Given the description of an element on the screen output the (x, y) to click on. 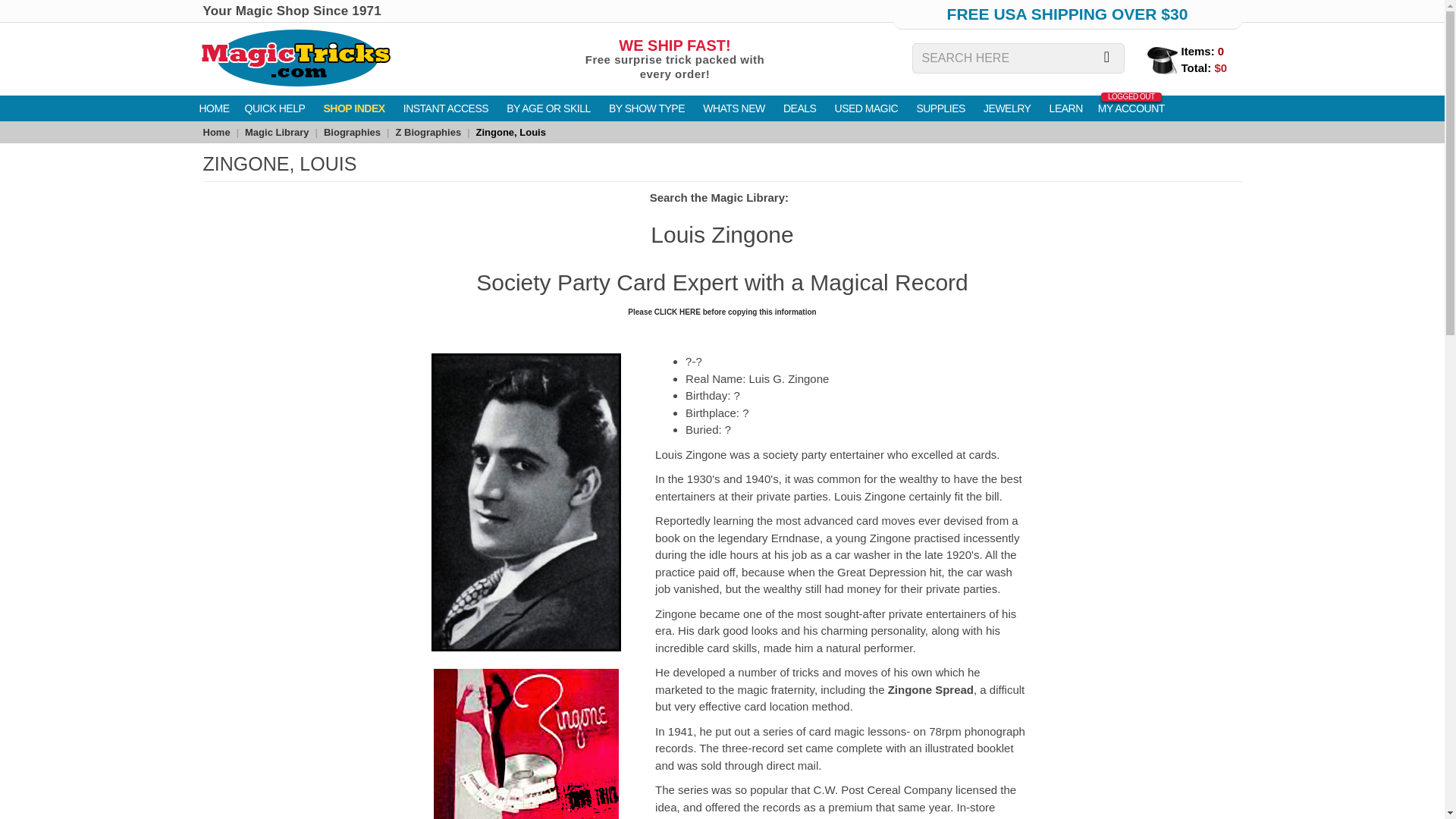
HOME (674, 60)
QUICK HELP (212, 108)
